Given the description of an element on the screen output the (x, y) to click on. 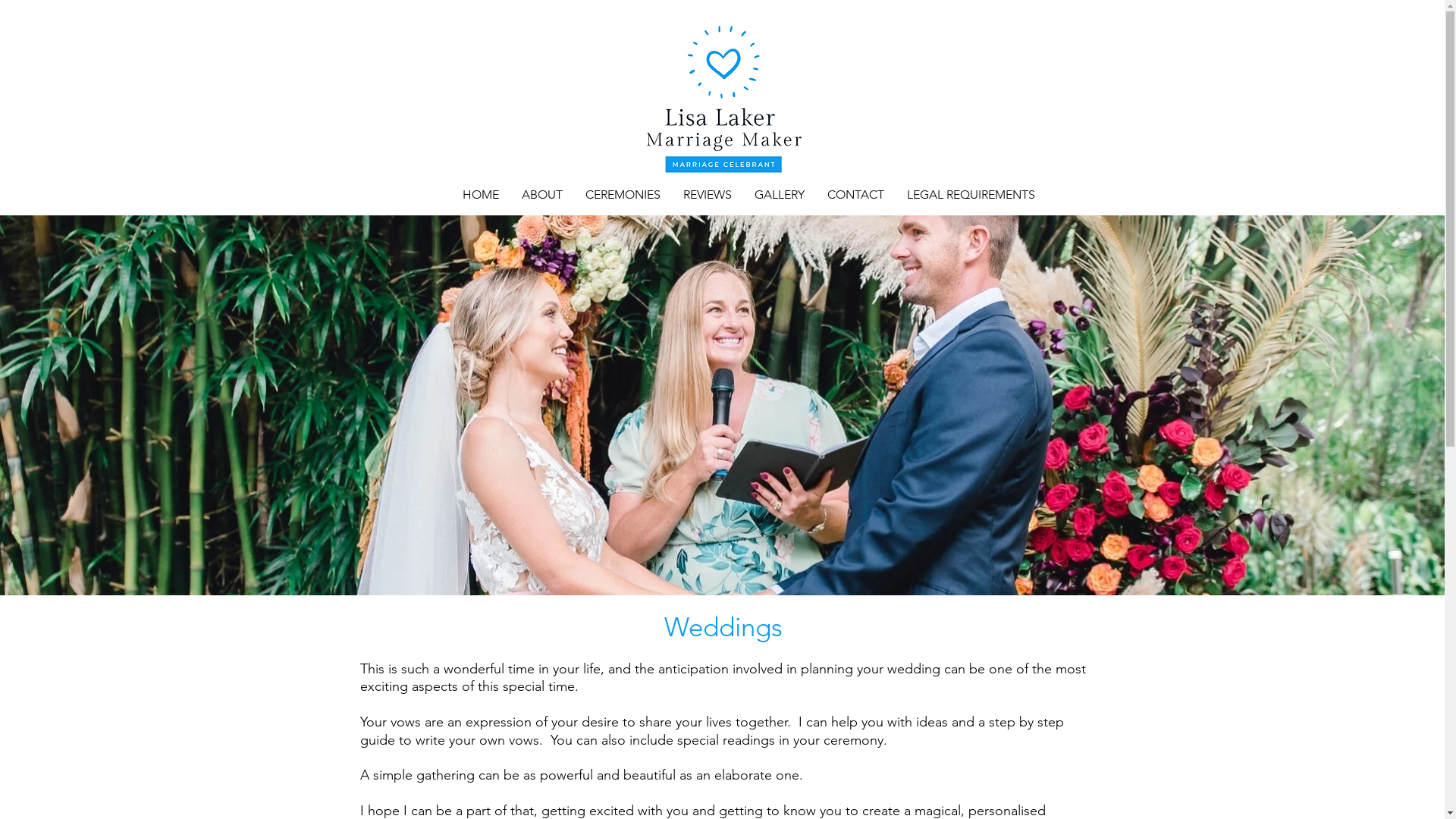
CONTACT Element type: text (855, 194)
HOME Element type: text (479, 194)
ABOUT Element type: text (541, 194)
REVIEWS Element type: text (707, 194)
GALLERY Element type: text (779, 194)
LEGAL REQUIREMENTS Element type: text (969, 194)
